Given the description of an element on the screen output the (x, y) to click on. 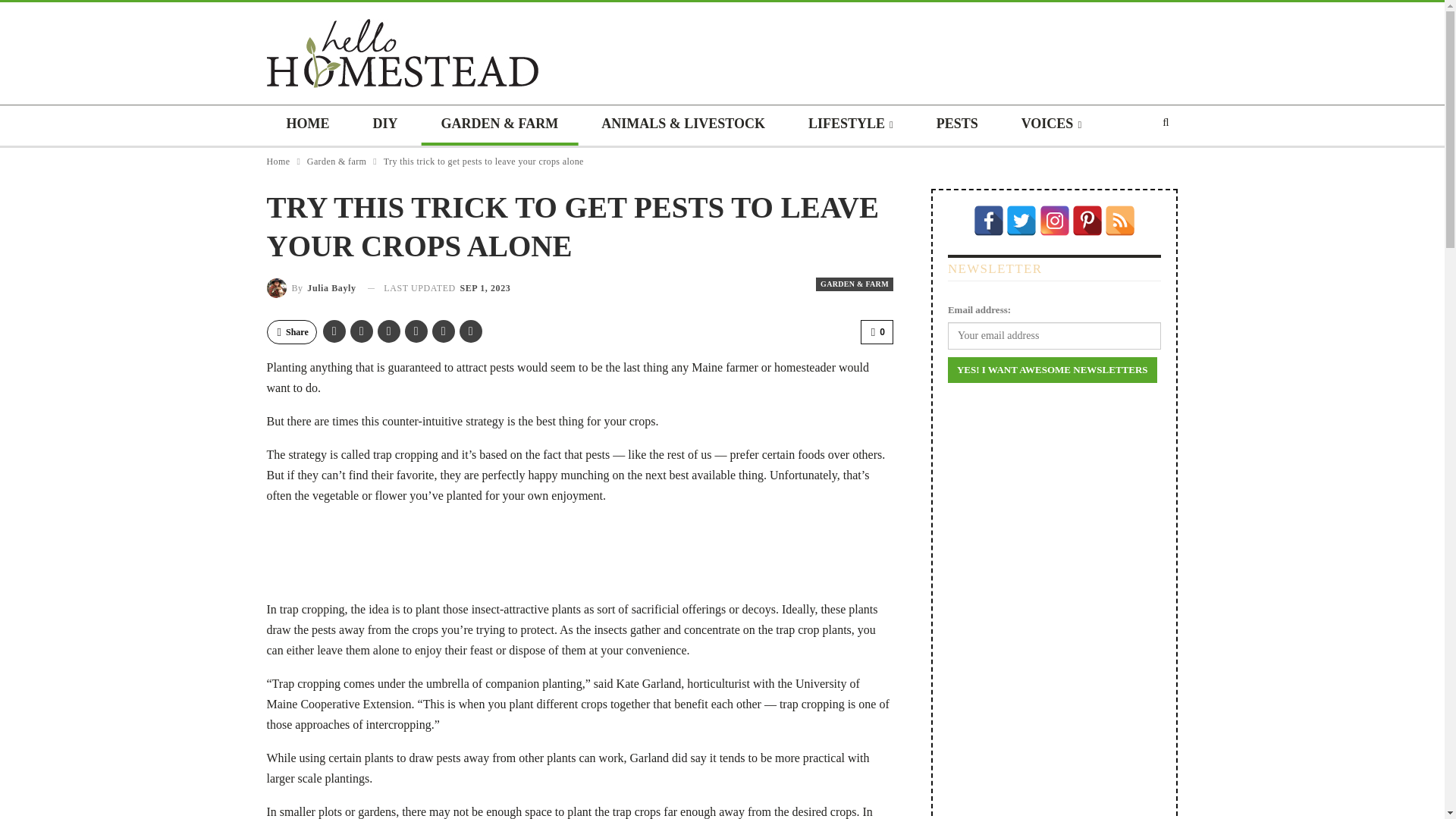
Advertisement (580, 552)
By Julia Bayly (311, 286)
PESTS (957, 125)
DIY (385, 125)
0 (876, 331)
Yes! I want awesome newsletters (1052, 370)
Home (277, 161)
VOICES (1050, 125)
Browse author articles (311, 286)
HOME (307, 125)
LIFESTYLE (850, 125)
